Given the description of an element on the screen output the (x, y) to click on. 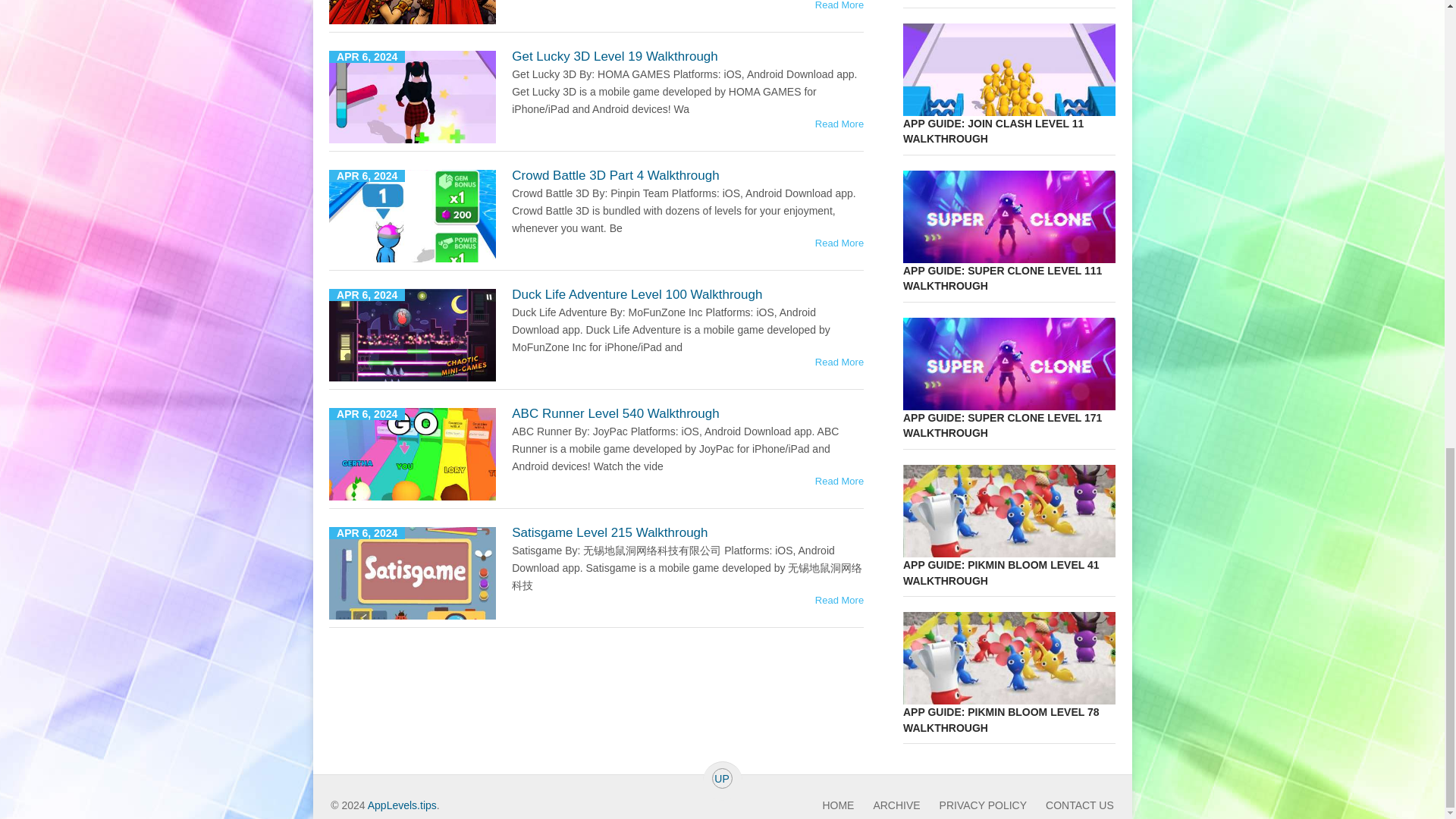
ABC Runner Level 540 Walkthrough (615, 413)
Crowd Battle 3D Part 4 Walkthrough (615, 175)
Read More (839, 123)
APR 6, 2024 (412, 12)
Read More (839, 5)
APR 6, 2024 (412, 335)
Get Lucky 3D Level 19 Walkthrough (614, 56)
Satisgame Level 215 Walkthrough (609, 532)
get-lucky-3d-level-19-walkthrough (412, 96)
Duck Life Adventure Level 100 Walkthrough (636, 294)
APR 6, 2024 (412, 96)
APR 6, 2024 (412, 215)
Read More (839, 361)
APR 6, 2024 (412, 573)
Read More (839, 242)
